Given the description of an element on the screen output the (x, y) to click on. 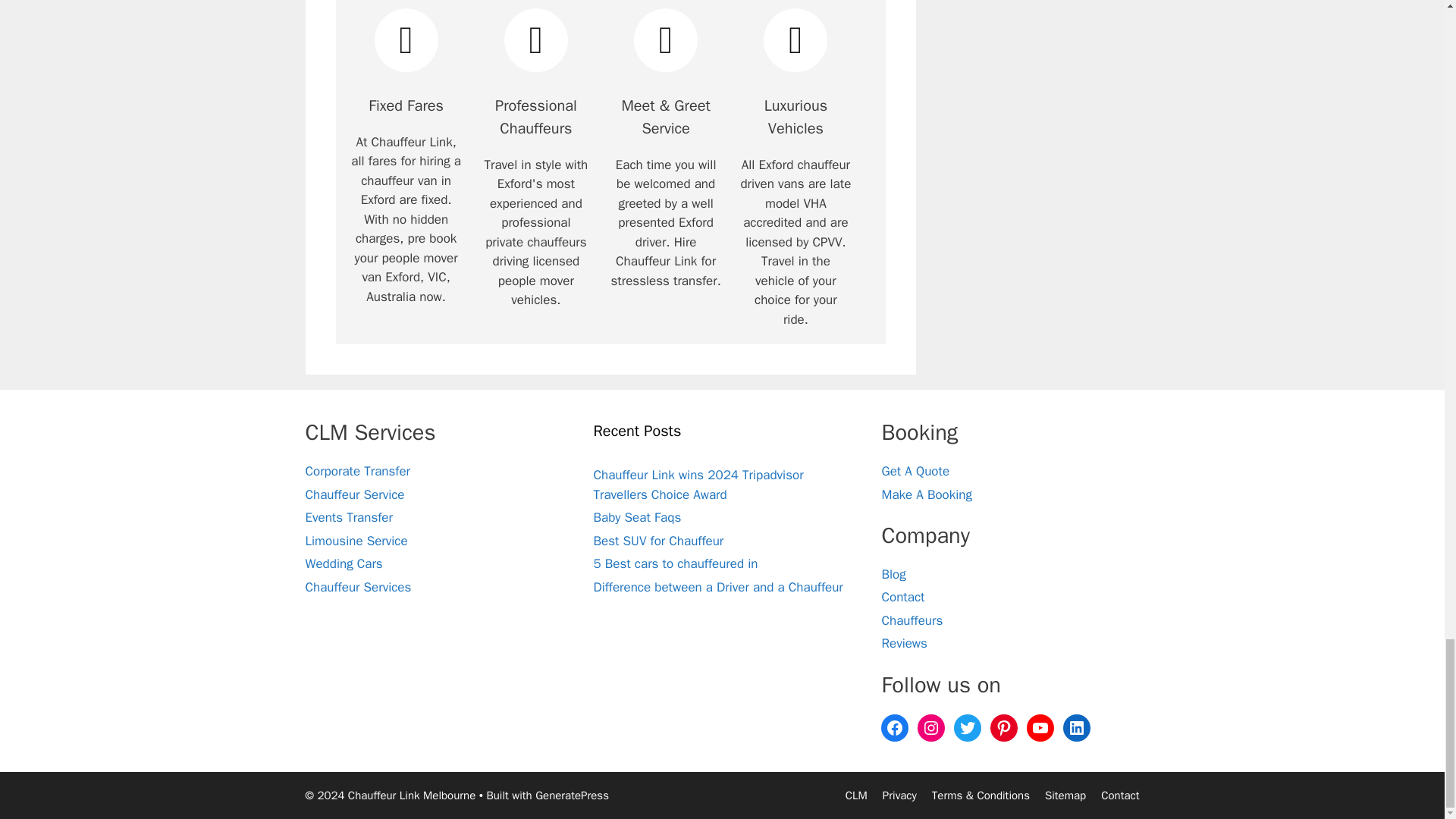
Fixed Fares (406, 40)
